Given the description of an element on the screen output the (x, y) to click on. 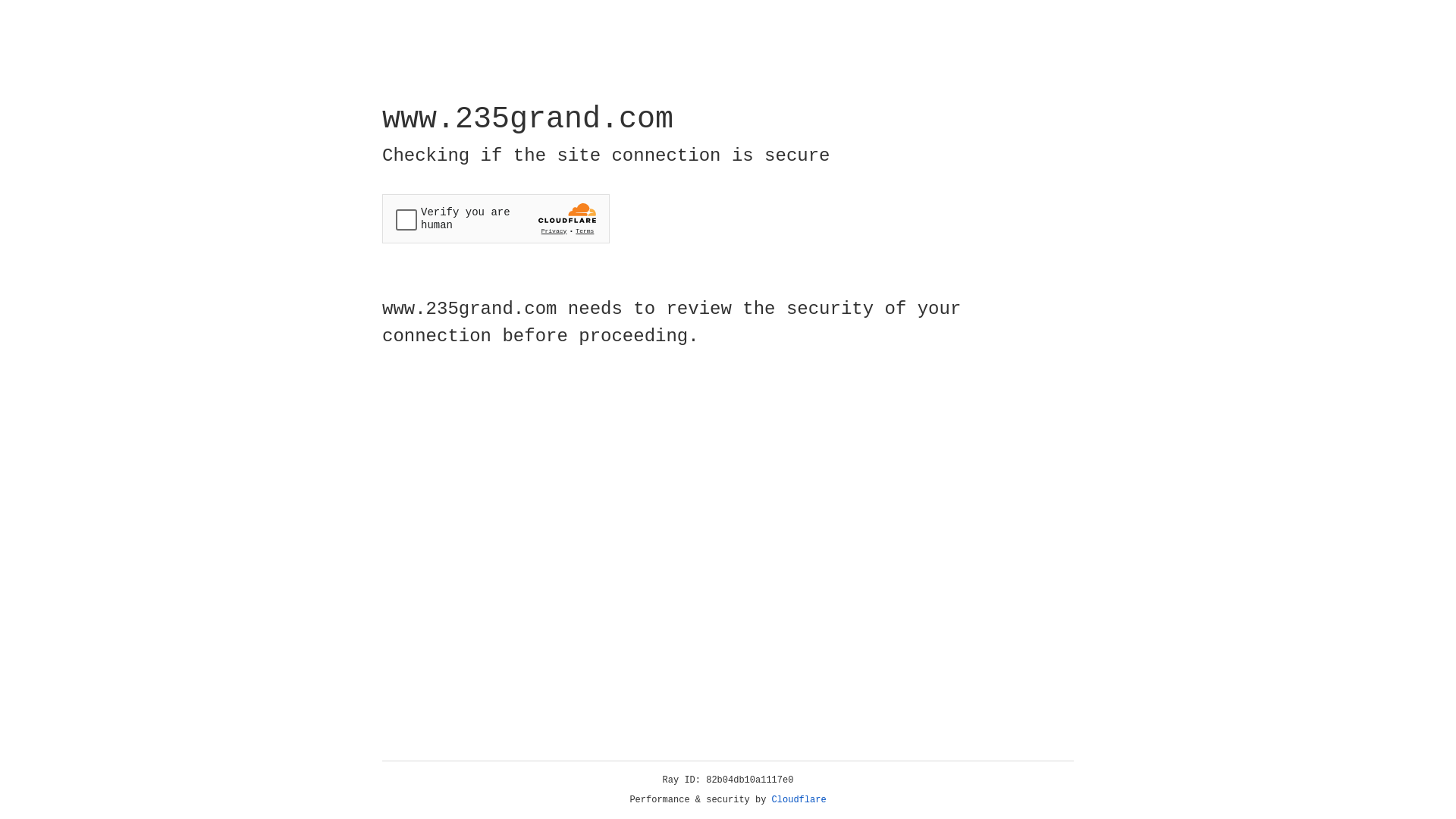
Cloudflare Element type: text (798, 799)
Widget containing a Cloudflare security challenge Element type: hover (495, 218)
